Given the description of an element on the screen output the (x, y) to click on. 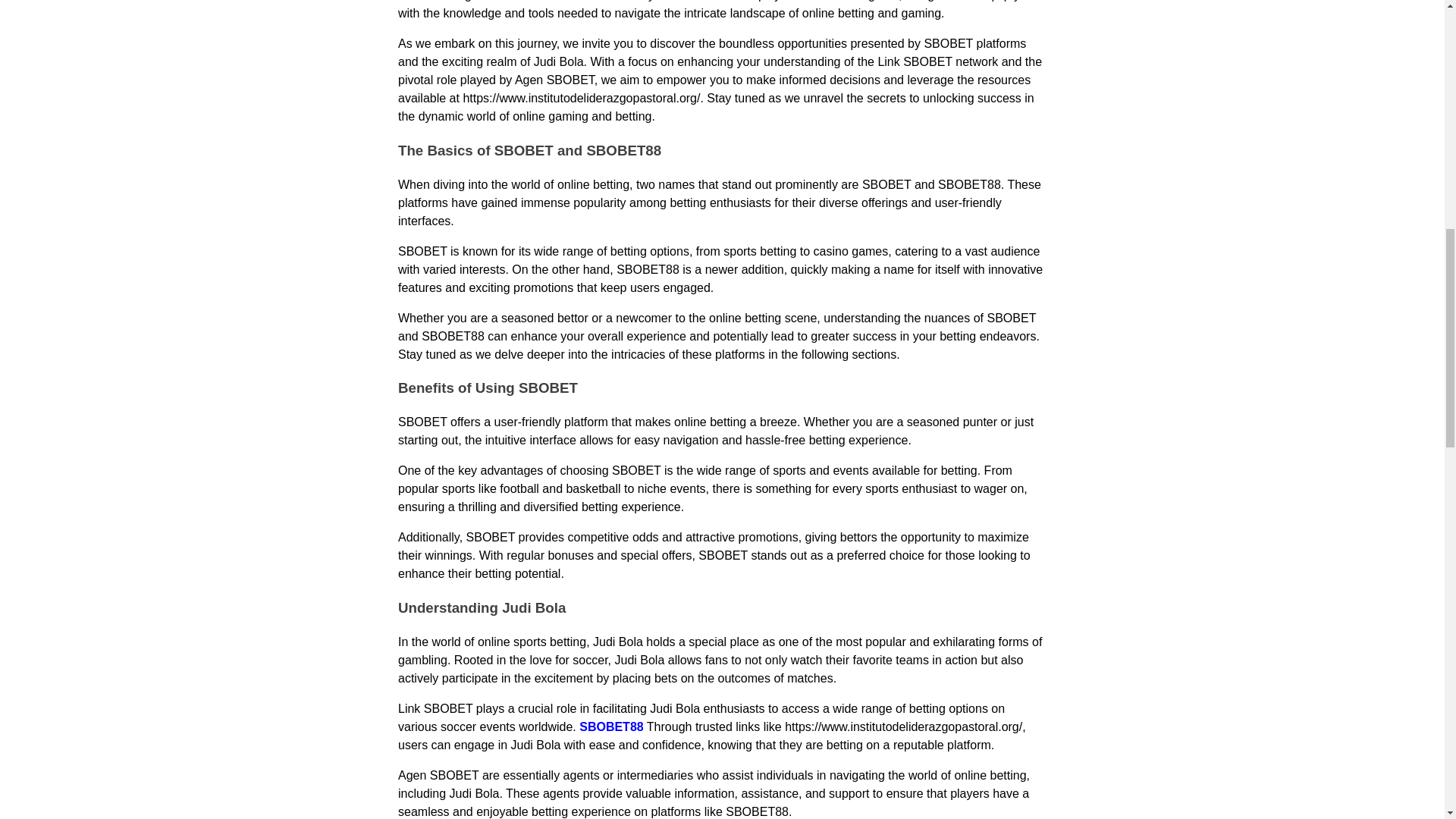
SBOBET88 (611, 726)
